Given the description of an element on the screen output the (x, y) to click on. 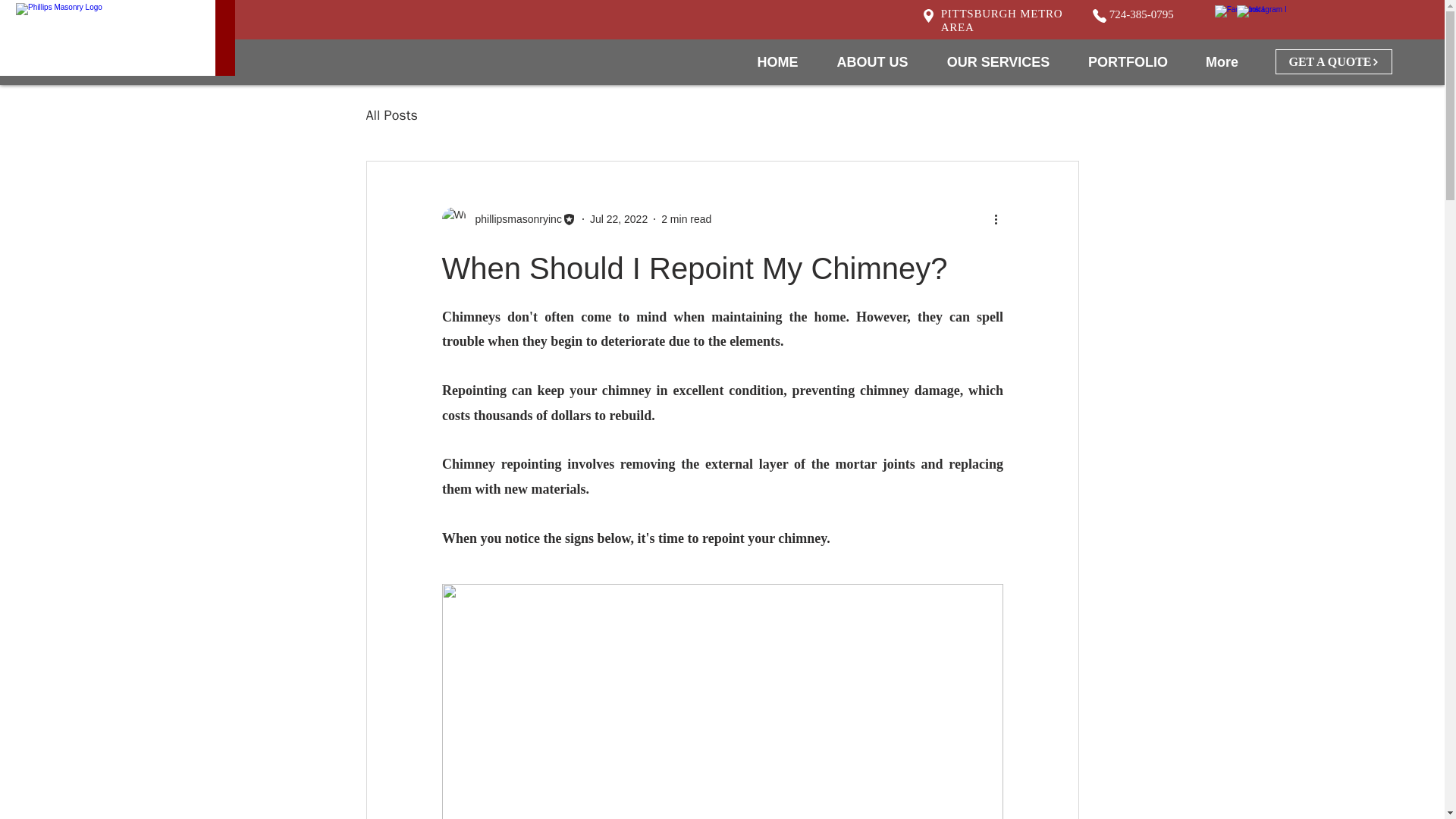
724-385-0795 (1141, 13)
HOME (777, 62)
PORTFOLIO (1127, 62)
2 min read (686, 218)
Jul 22, 2022 (618, 218)
All Posts (390, 115)
phillipsmasonryinc (512, 218)
phillipsmasonryinc (508, 218)
ABOUT US (871, 62)
OUR SERVICES (997, 62)
PITTSBURGH METRO AREA (1001, 19)
GET A QUOTE (1333, 61)
